Given the description of an element on the screen output the (x, y) to click on. 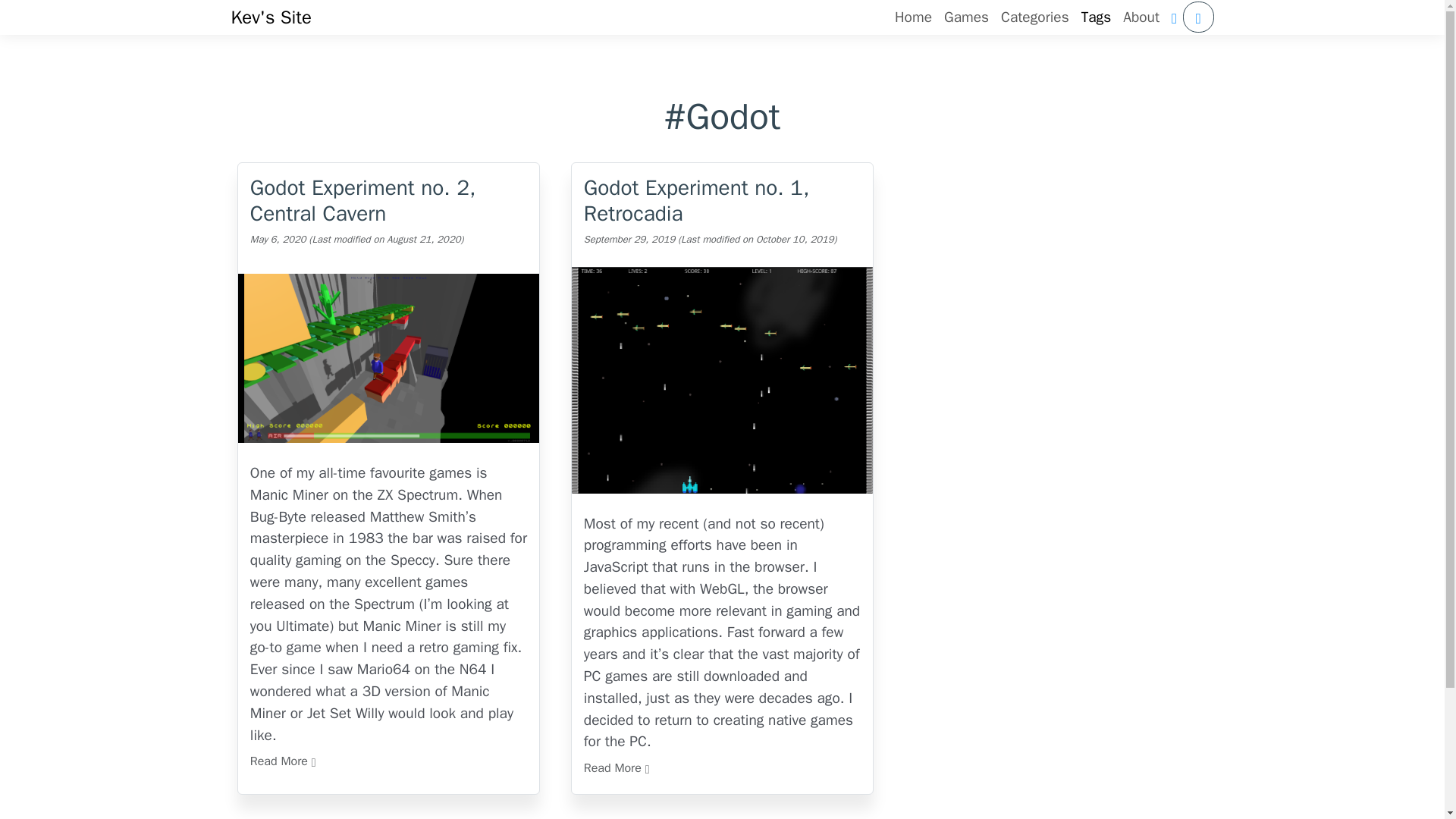
Tags (1096, 17)
Categories (1034, 17)
About (1141, 17)
Categories (1034, 17)
Games (965, 17)
Home (912, 17)
Home (912, 17)
About (1141, 17)
Kev's Site (270, 17)
Tags (1096, 17)
